Given the description of an element on the screen output the (x, y) to click on. 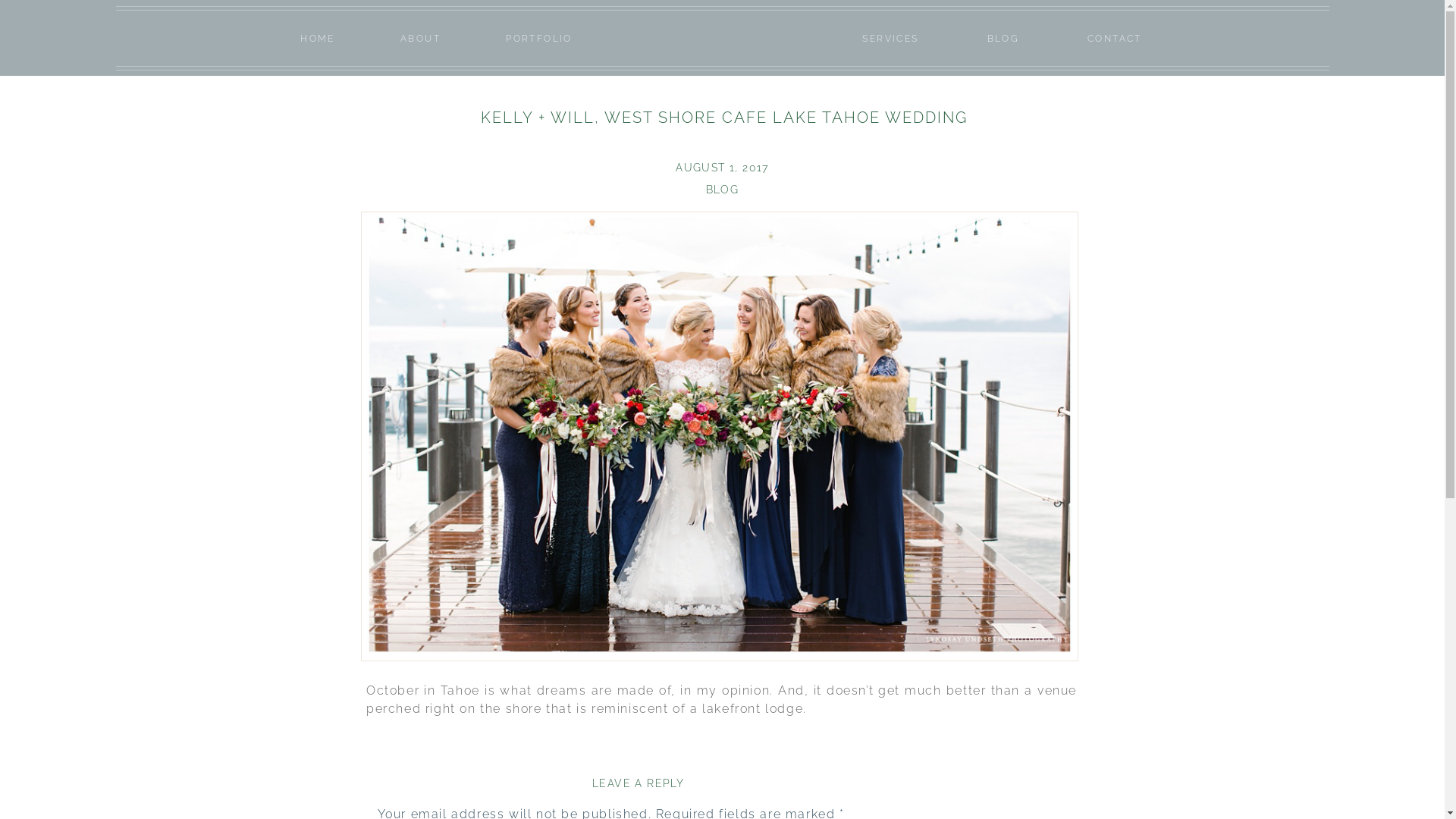
PORTFOLIO Element type: text (539, 39)
CONTACT Element type: text (1114, 39)
ABOUT Element type: text (420, 39)
SERVICES Element type: text (890, 39)
HOME Element type: text (317, 39)
BLOG Element type: text (1002, 39)
BLOG Element type: text (722, 189)
